Given the description of an element on the screen output the (x, y) to click on. 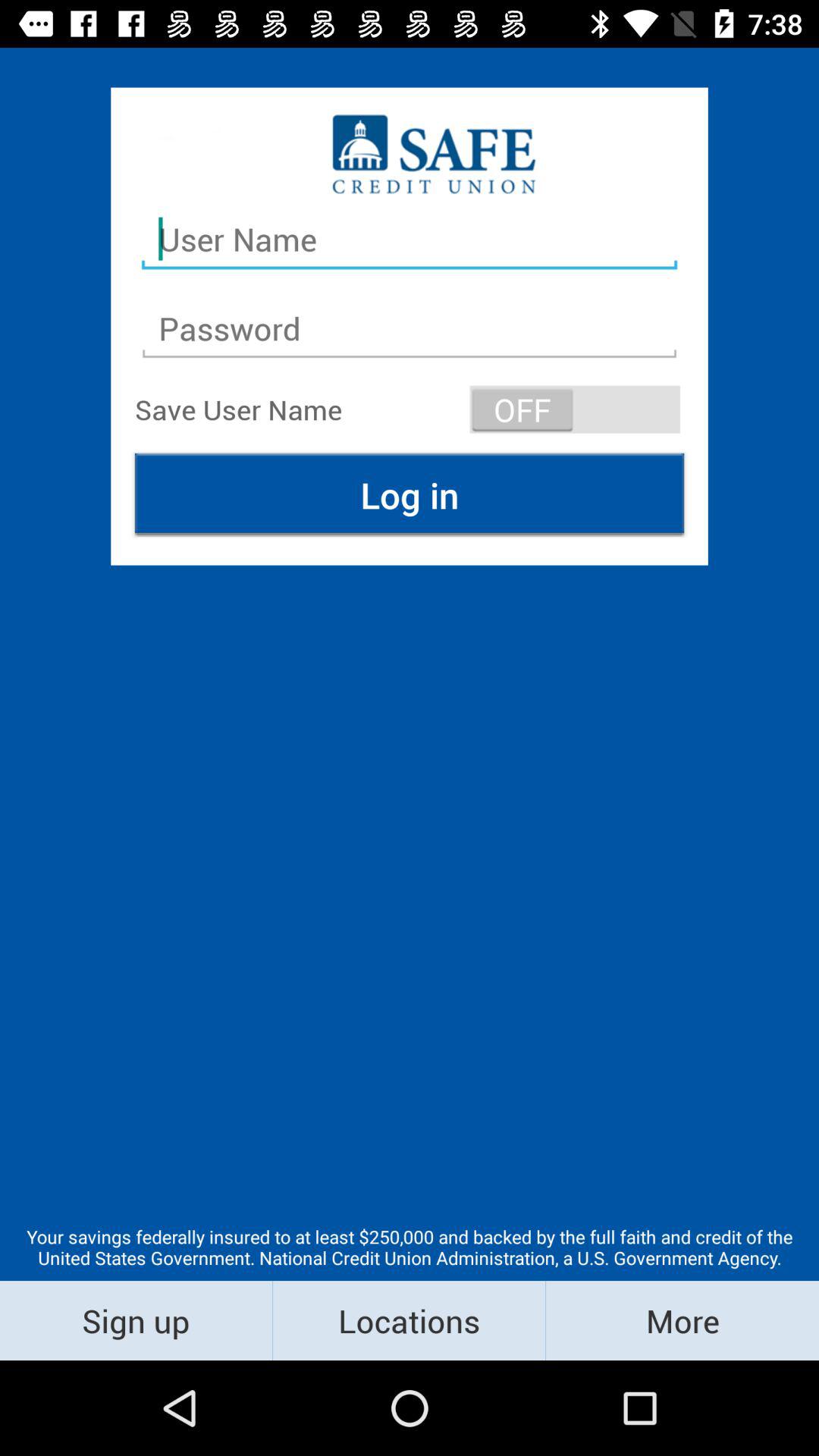
launch the sign up item (136, 1320)
